Given the description of an element on the screen output the (x, y) to click on. 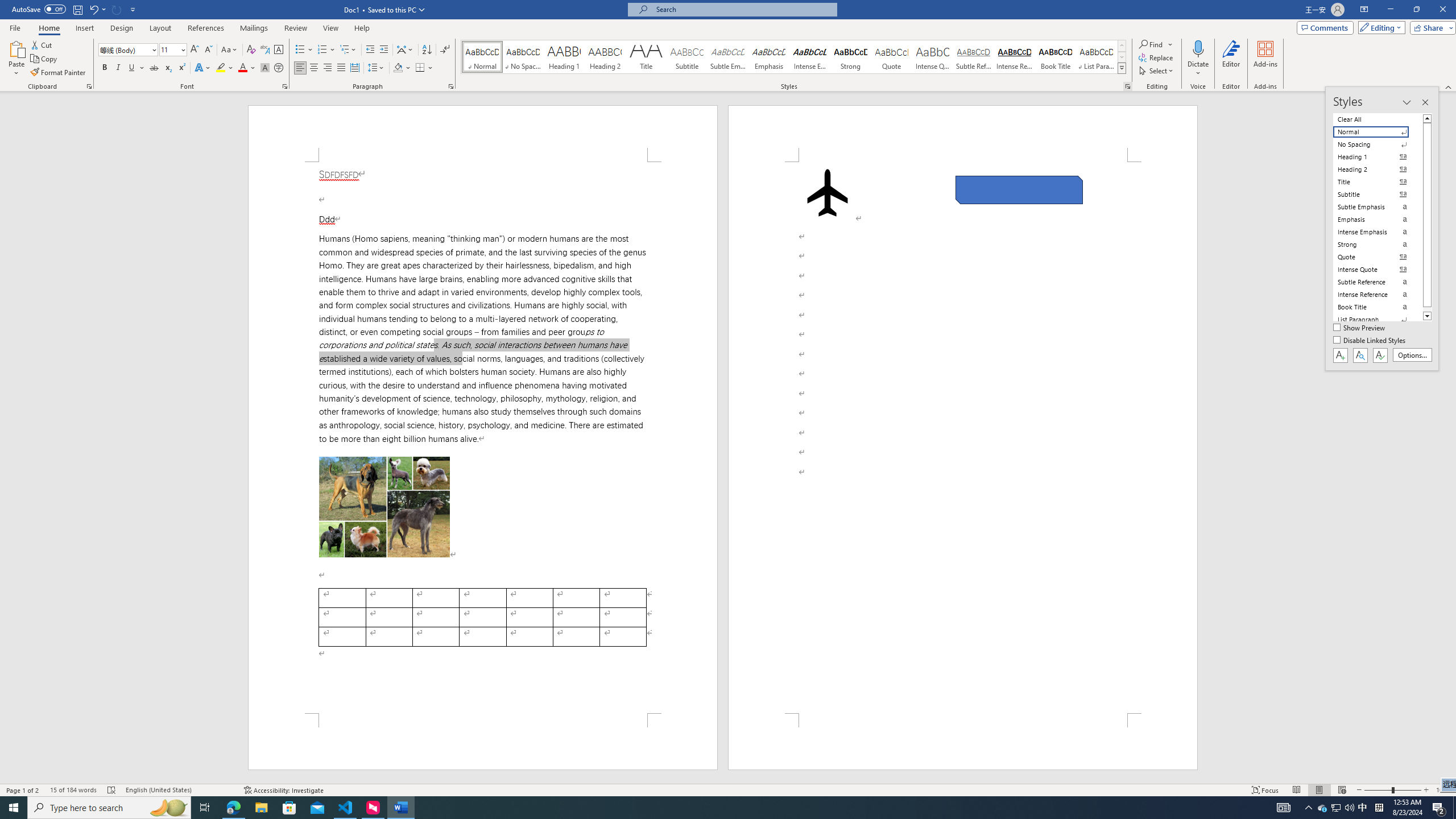
Line and Paragraph Spacing (376, 67)
Show/Hide Editing Marks (444, 49)
Quote (891, 56)
Paste (16, 48)
Share (1430, 27)
Paste (16, 58)
Intense Reference (1014, 56)
Paragraph... (450, 85)
Shading RGB(0, 0, 0) (397, 67)
Heading 2 (605, 56)
Phonetic Guide... (264, 49)
Row up (1121, 45)
Bullets (304, 49)
Find (1155, 44)
Microsoft search (742, 9)
